Given the description of an element on the screen output the (x, y) to click on. 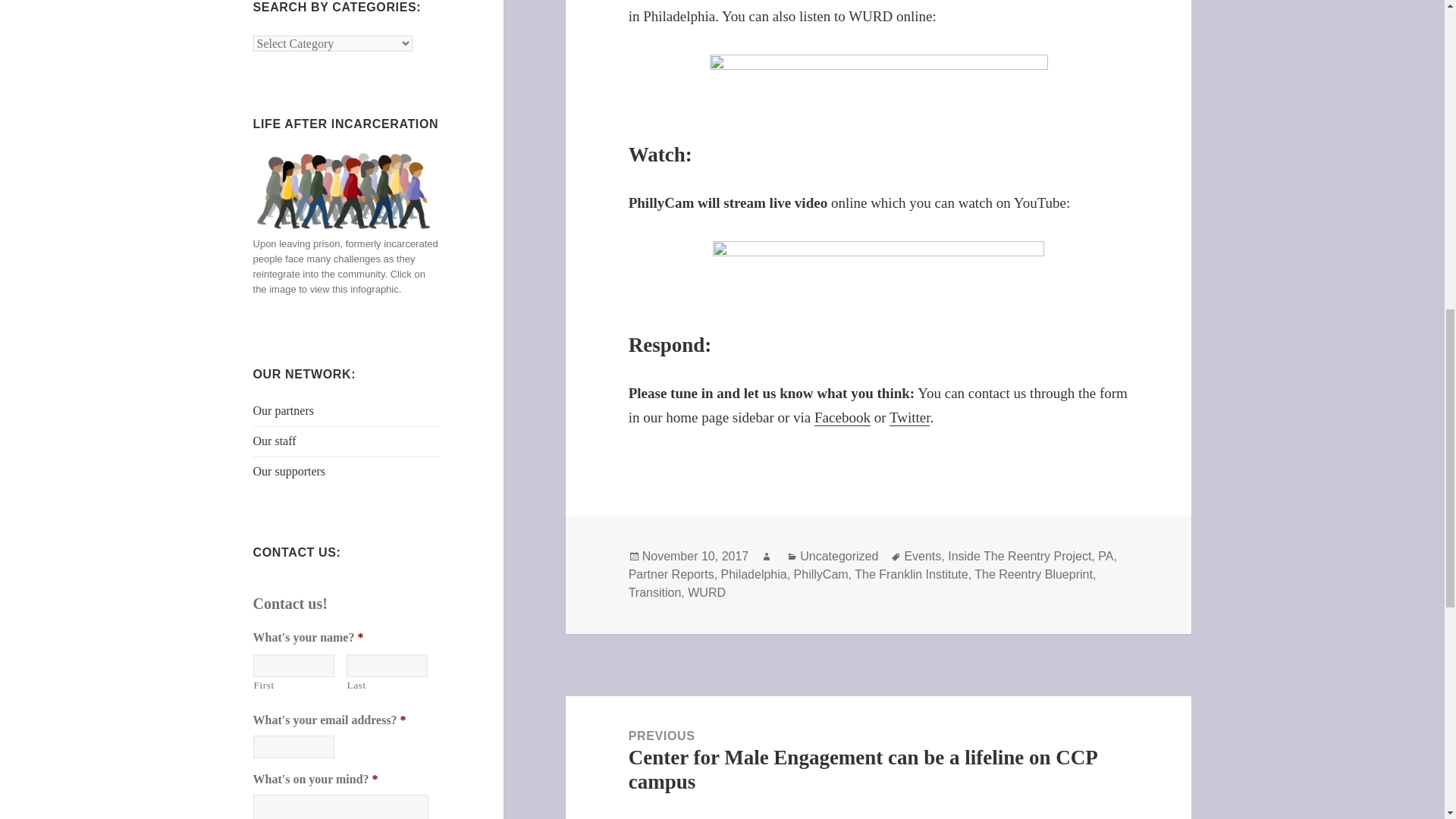
The Franklin Institute (911, 574)
PA (1105, 556)
Inside The Reentry Project (1018, 556)
Our supporters (289, 471)
Events (922, 556)
Twitter (909, 417)
Philadelphia (753, 574)
November 10, 2017 (695, 556)
Our staff (275, 440)
Facebook (841, 417)
Our partners (283, 410)
Partner Reports (671, 574)
PhillyCam (820, 574)
